Given the description of an element on the screen output the (x, y) to click on. 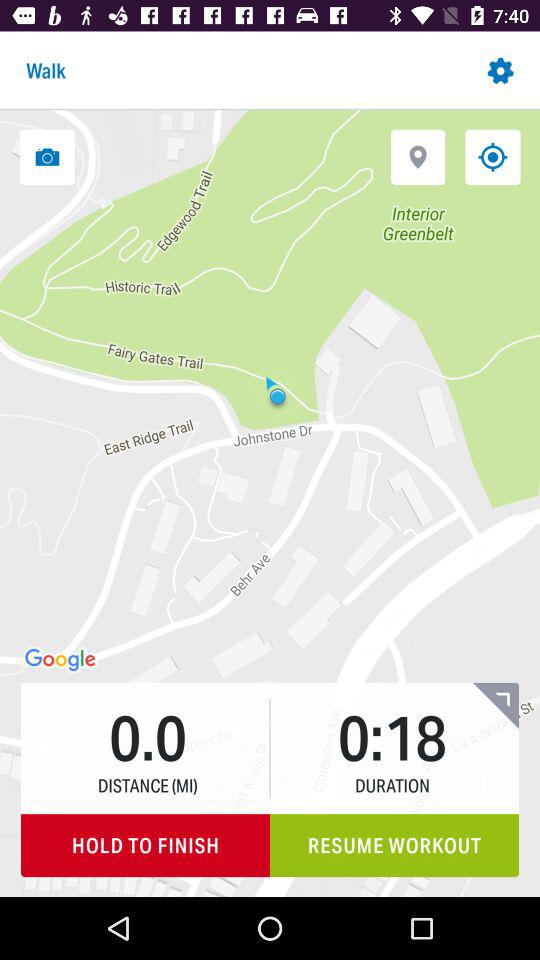
swipe until resume workout icon (394, 845)
